Given the description of an element on the screen output the (x, y) to click on. 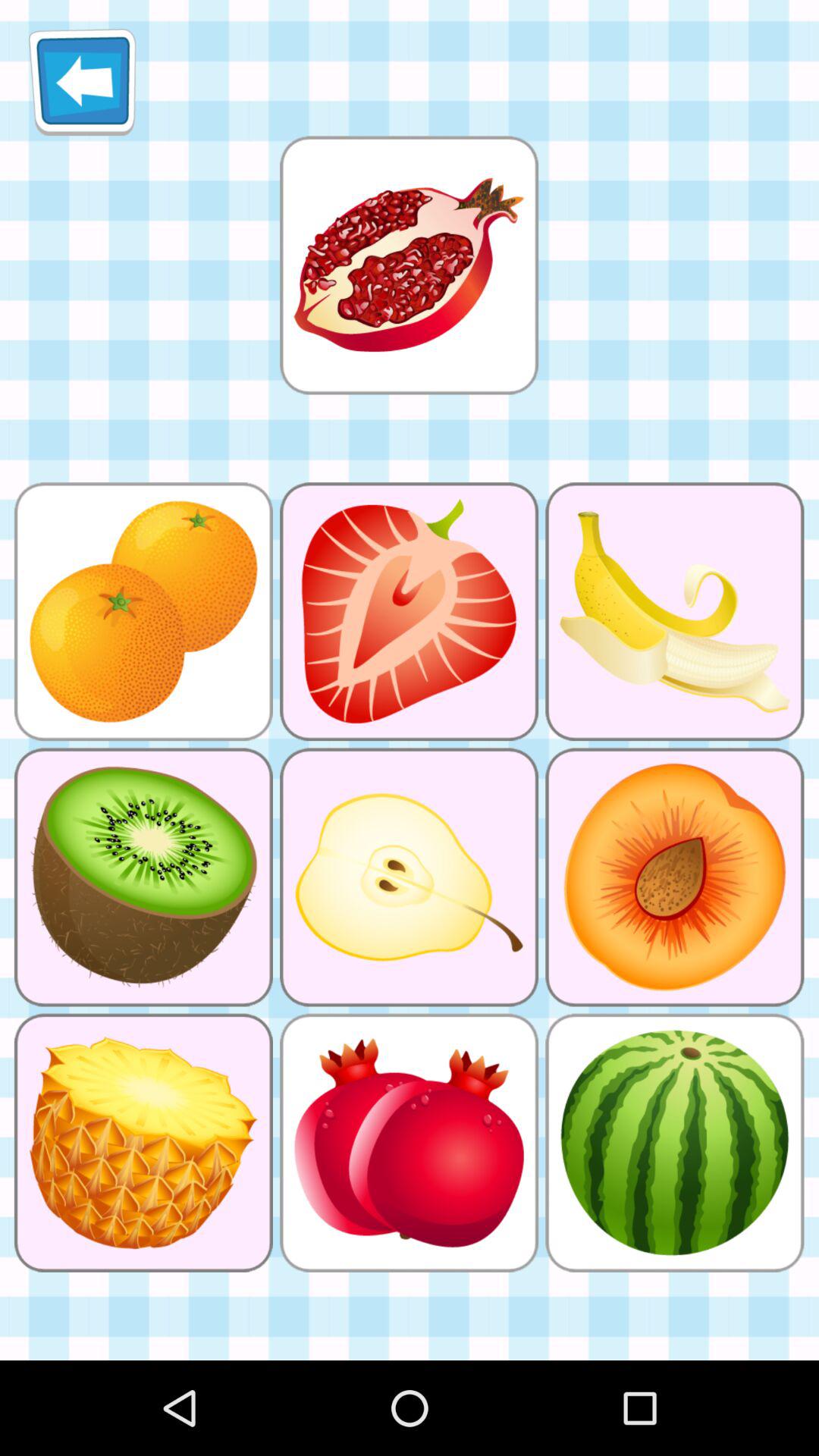
go pack (82, 82)
